Given the description of an element on the screen output the (x, y) to click on. 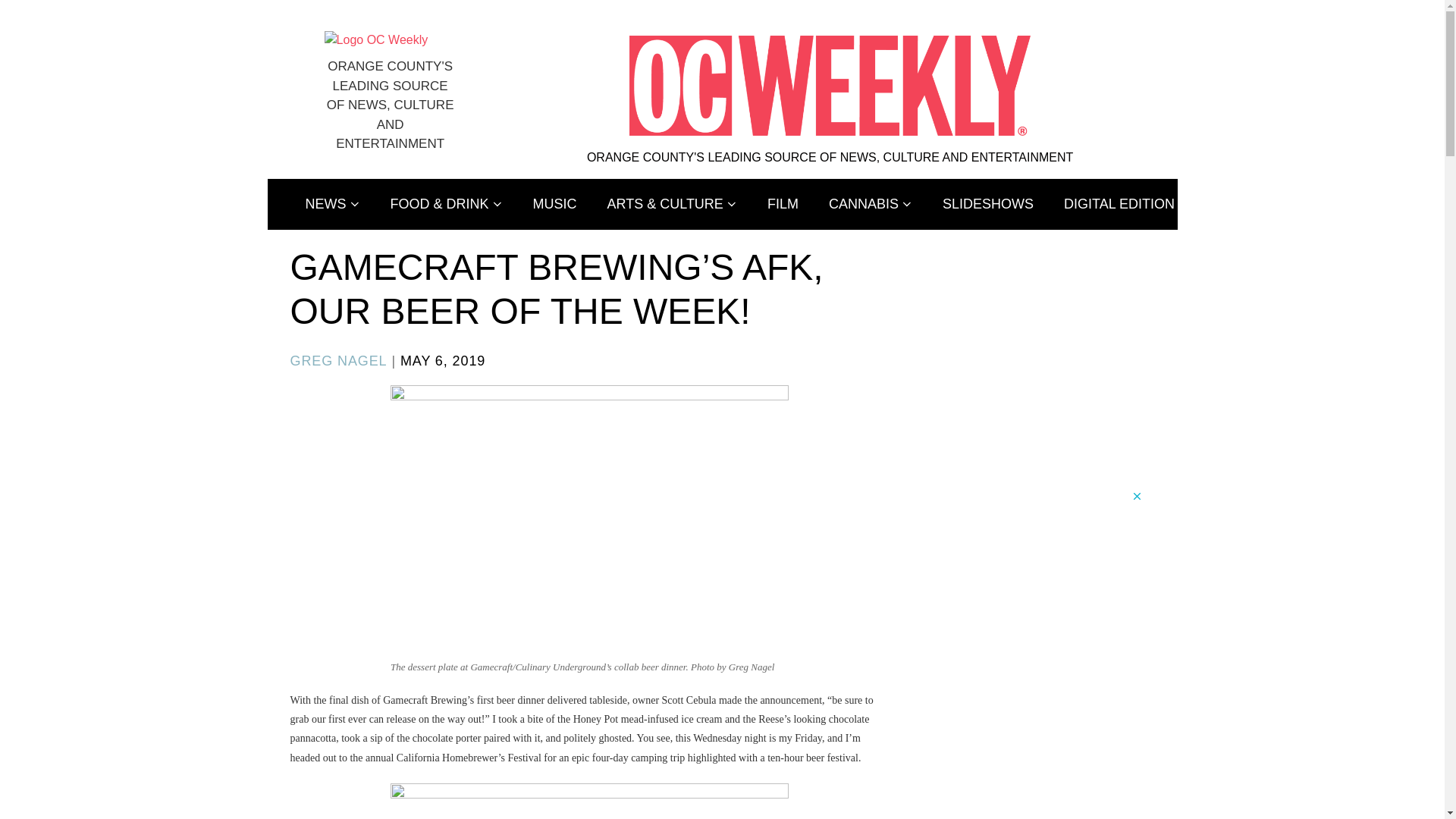
MUSIC (555, 204)
News (331, 204)
OC Weekly (376, 39)
FILM (782, 204)
NEWS (331, 204)
CANNABIS (870, 204)
